Given the description of an element on the screen output the (x, y) to click on. 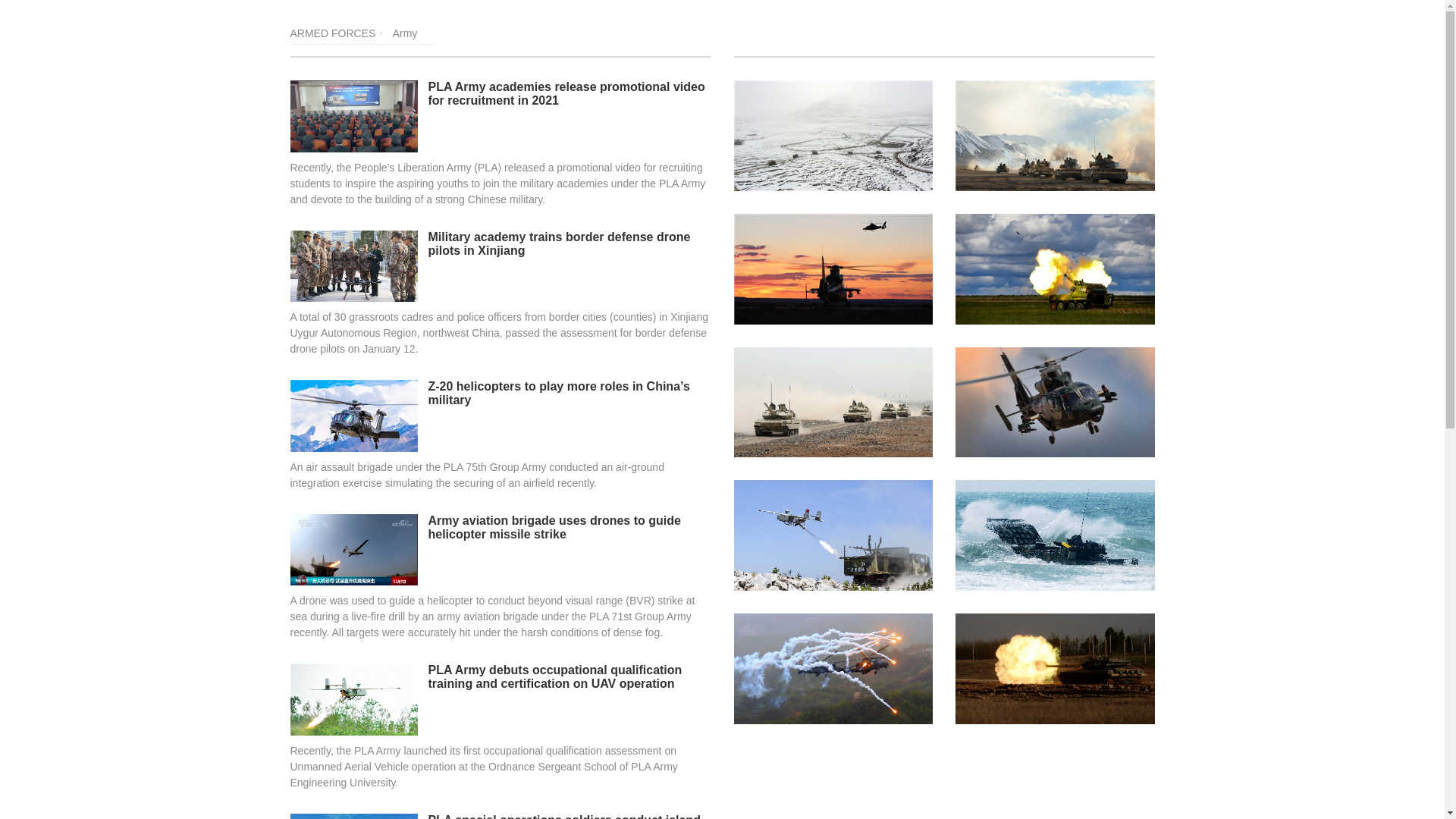
Army (405, 33)
ARMED FORCES (332, 33)
